Given the description of an element on the screen output the (x, y) to click on. 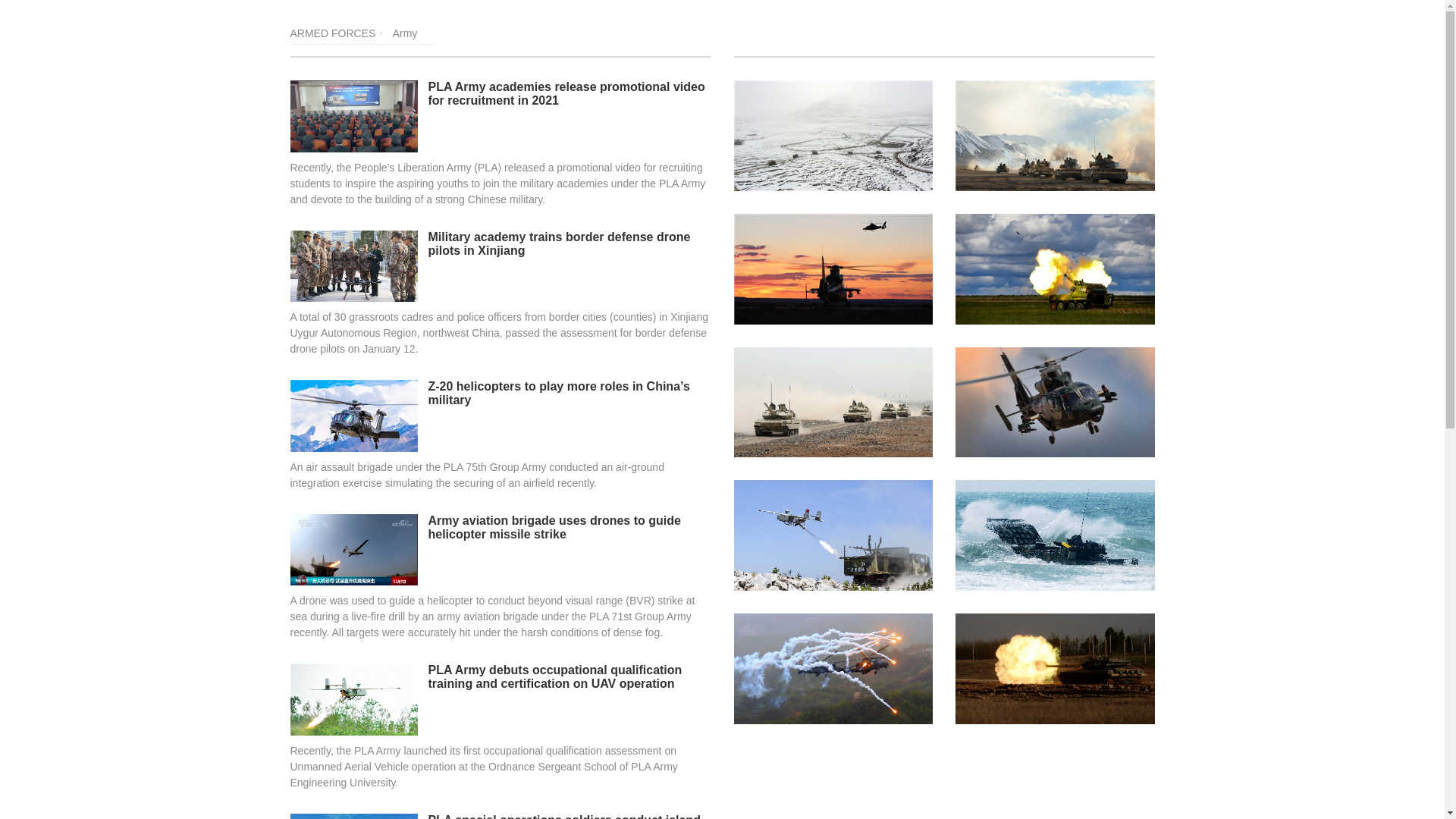
Army (405, 33)
ARMED FORCES (332, 33)
